Given the description of an element on the screen output the (x, y) to click on. 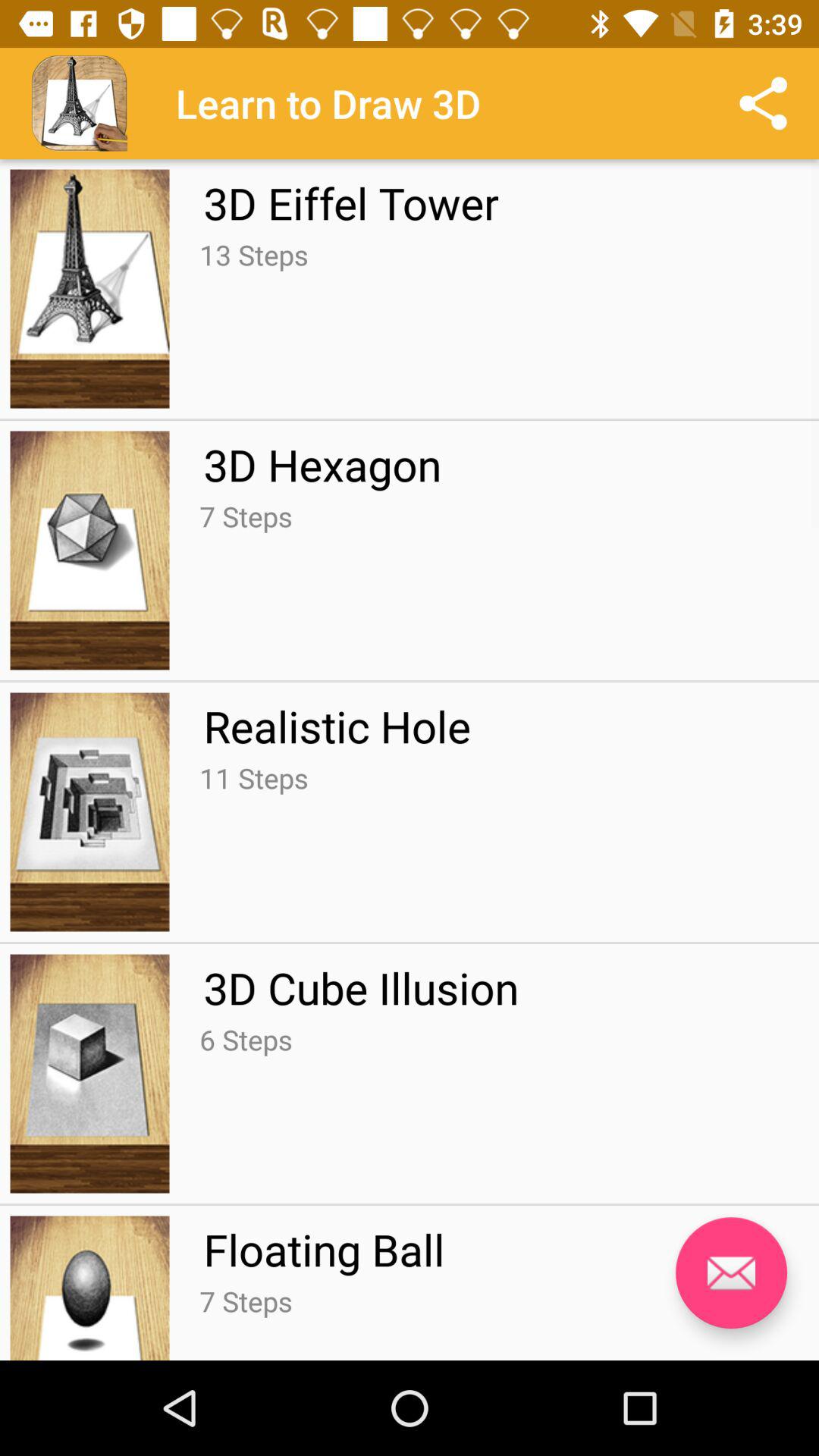
scroll until realistic hole icon (336, 725)
